Given the description of an element on the screen output the (x, y) to click on. 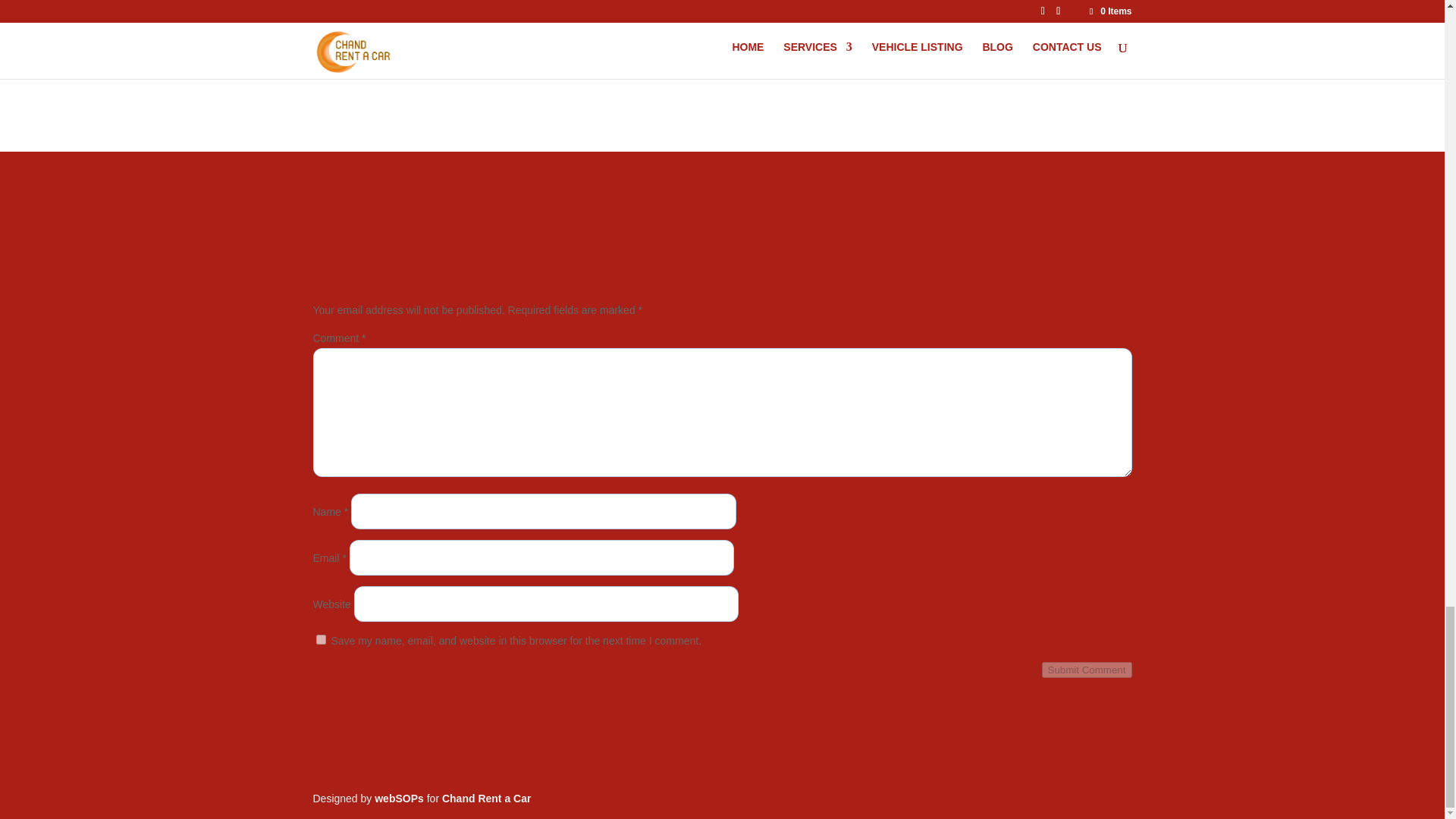
yes (319, 639)
Submit Comment (1087, 669)
